Given the description of an element on the screen output the (x, y) to click on. 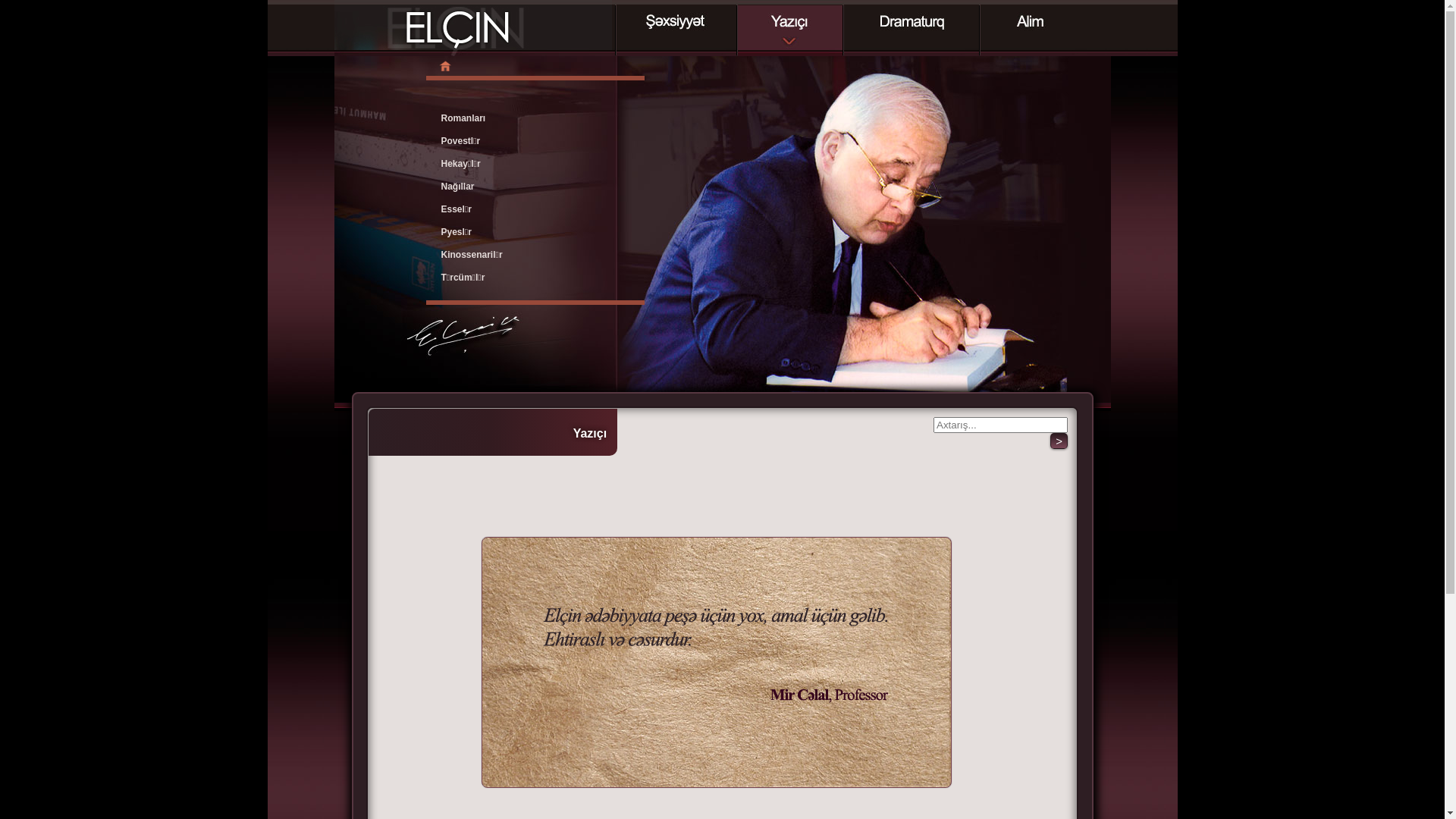
> Element type: text (1058, 440)
